Given the description of an element on the screen output the (x, y) to click on. 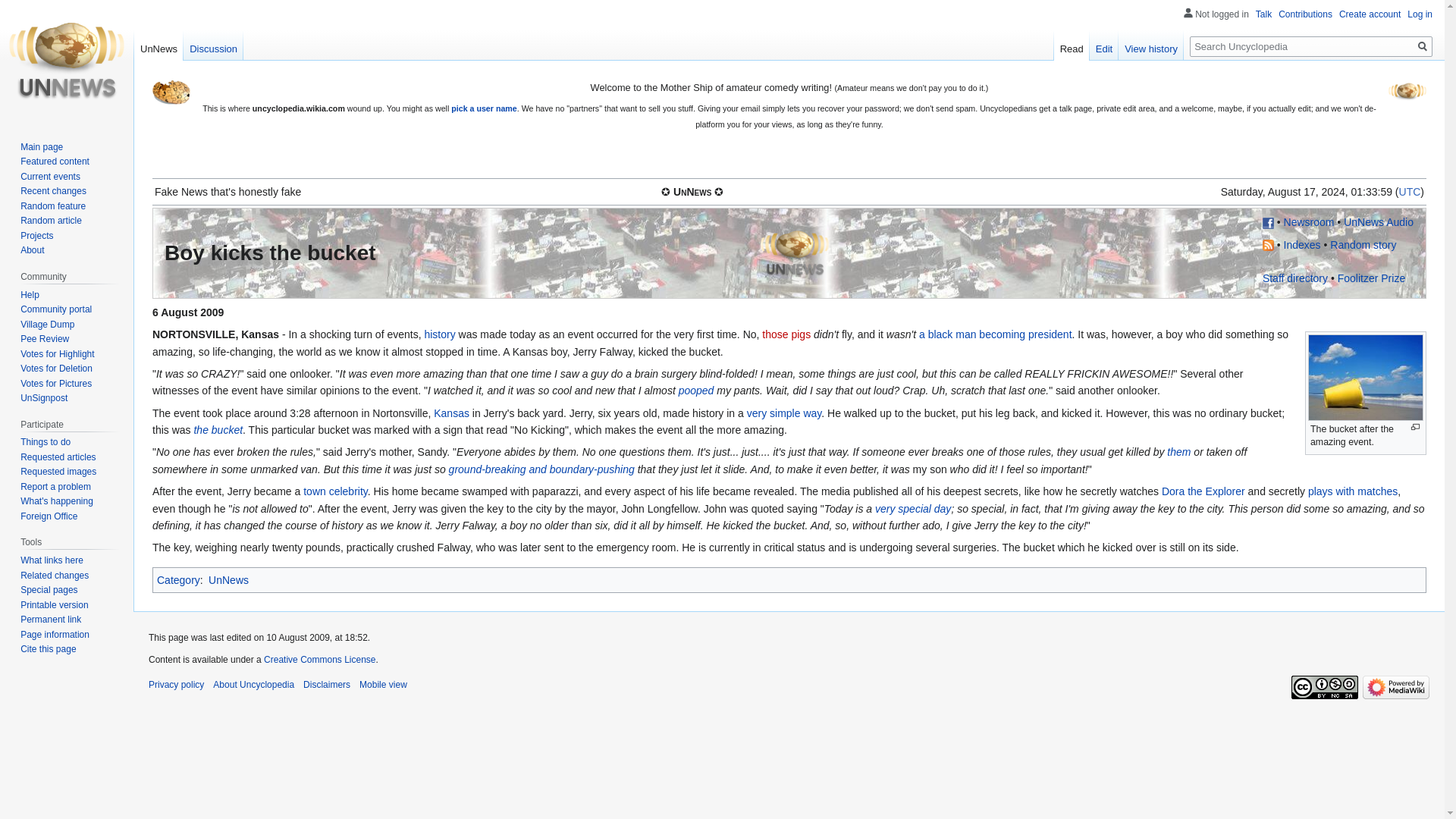
Kansas (450, 413)
Talk (1263, 14)
those pigs (785, 334)
UnNews Audio (1378, 222)
UnNews:UnNewsAudio (1294, 277)
Search (1422, 46)
UnNews:Archived specialty indexes (1302, 244)
UnNews (794, 252)
Go (1422, 46)
